Given the description of an element on the screen output the (x, y) to click on. 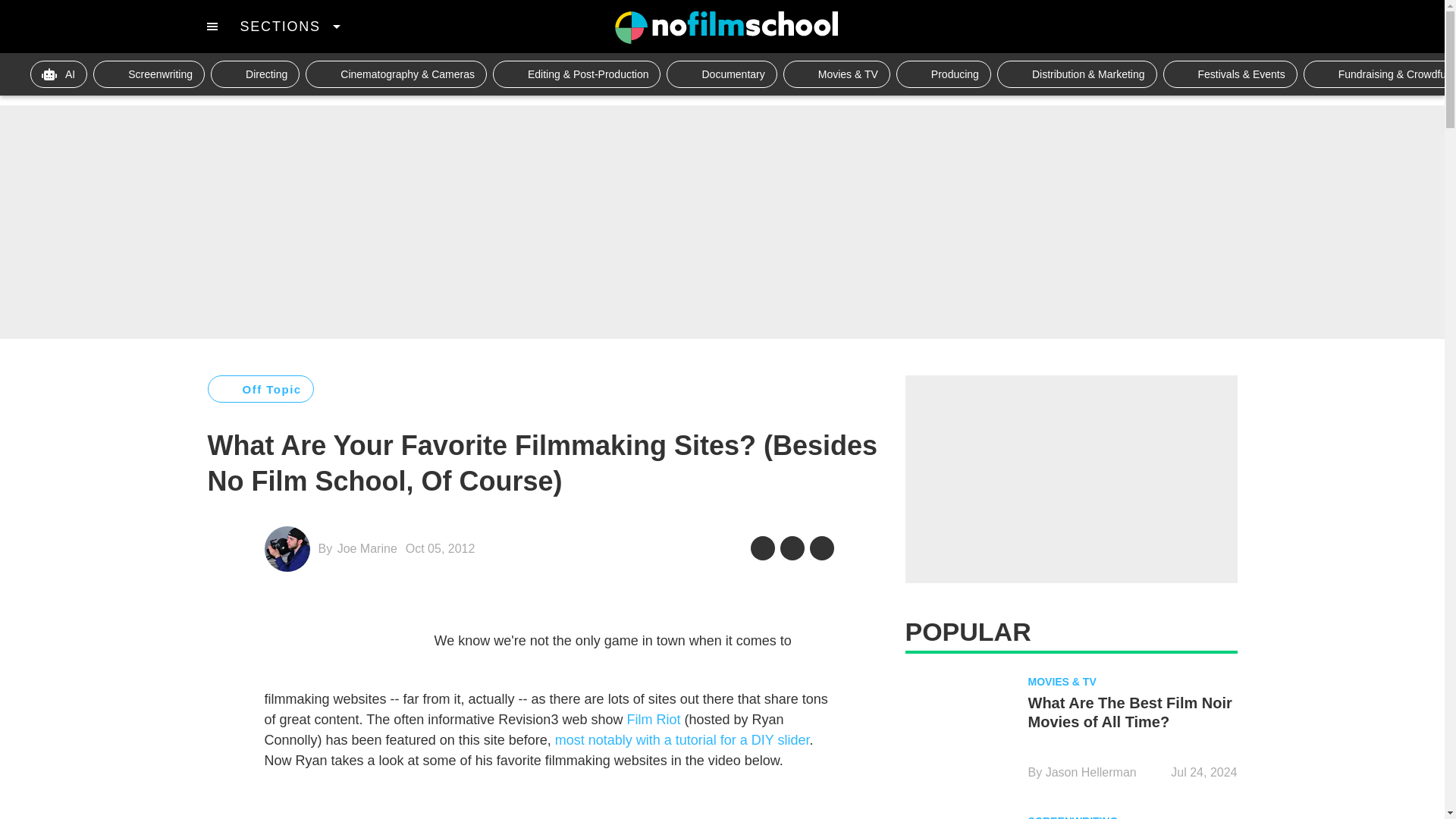
NO FILM SCHOOL (725, 27)
SECTIONS (289, 26)
Screenwriting (149, 73)
Joe Marine (367, 548)
NO FILM SCHOOL (725, 27)
Off Topic (261, 388)
Documentary (721, 73)
Directing (255, 73)
Producing (943, 73)
AI (58, 73)
